Given the description of an element on the screen output the (x, y) to click on. 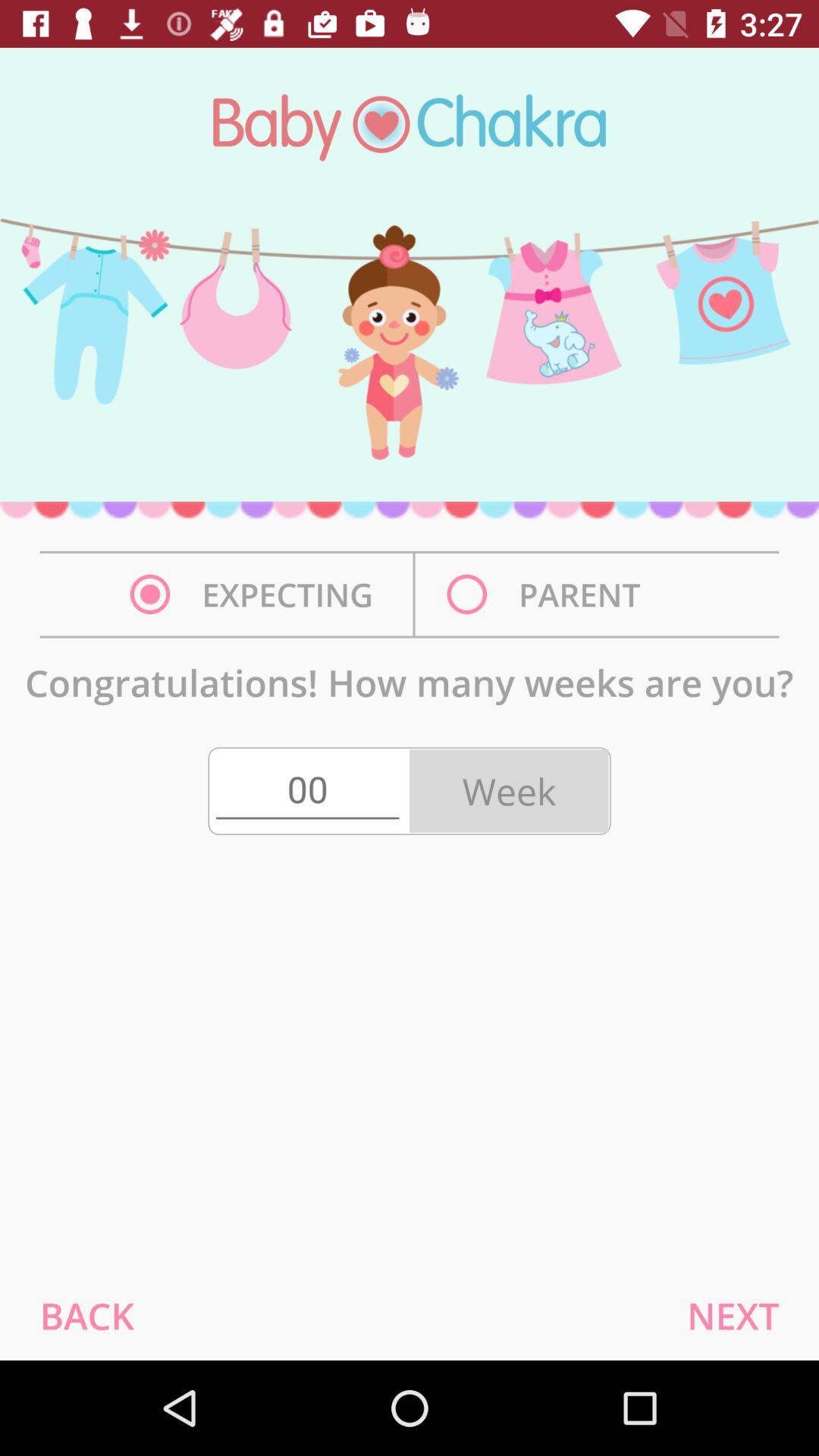
open the icon to the left of next (86, 1315)
